Given the description of an element on the screen output the (x, y) to click on. 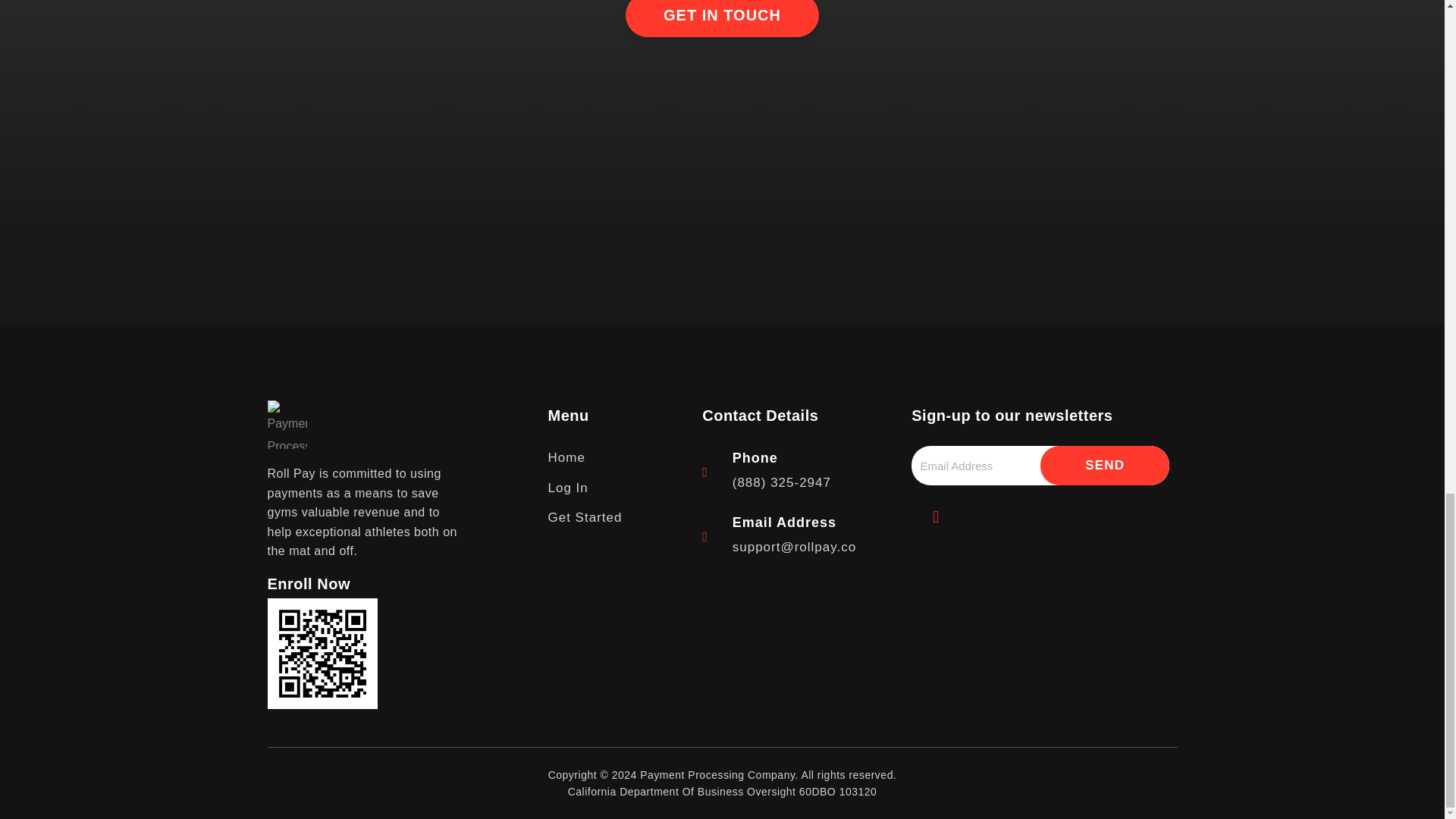
Home (617, 457)
GET IN TOUCH (722, 18)
Get Started (617, 517)
SEND (1105, 465)
Instagram (935, 516)
Log In (617, 487)
